Given the description of an element on the screen output the (x, y) to click on. 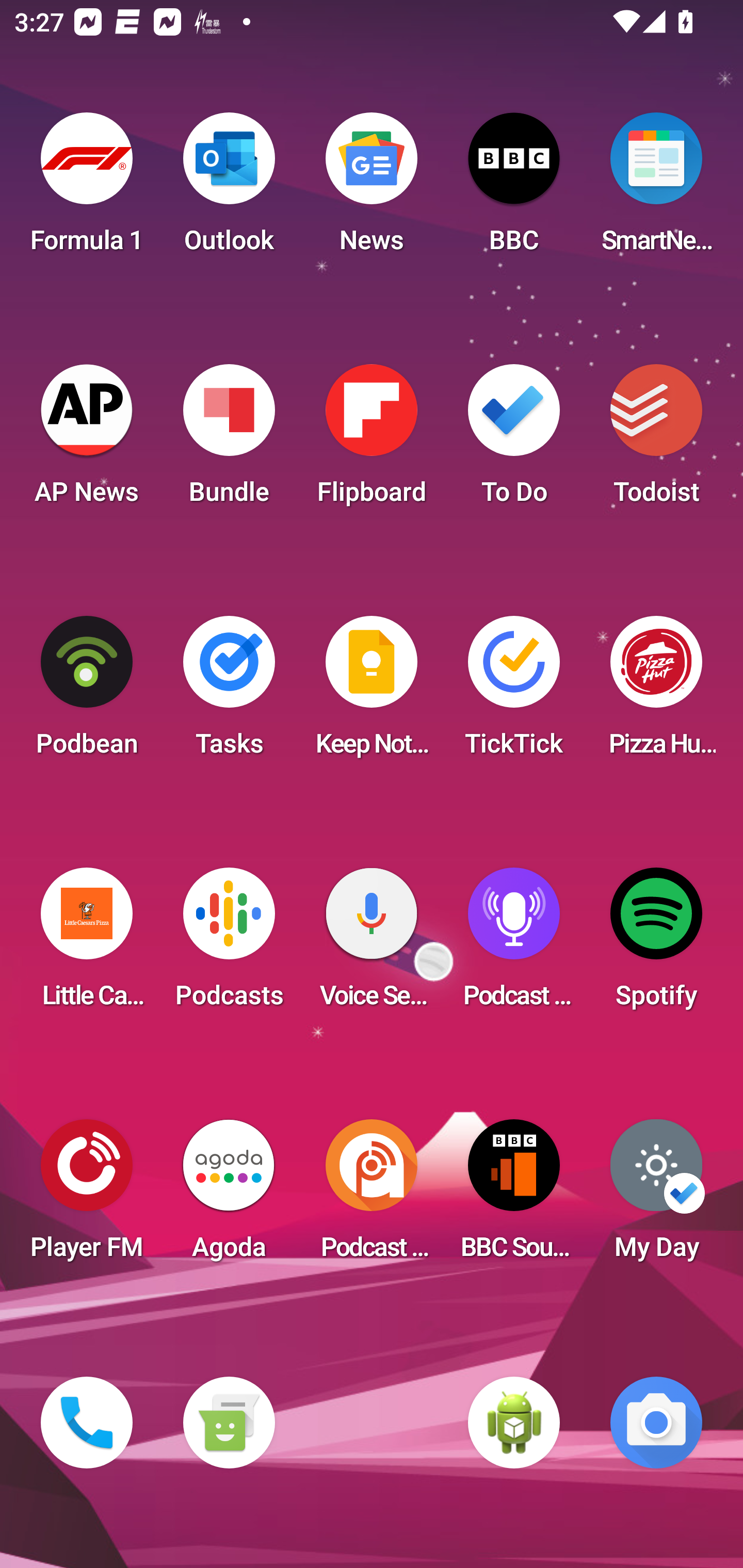
Formula 1 (86, 188)
Outlook (228, 188)
News (371, 188)
BBC (513, 188)
SmartNews (656, 188)
AP News (86, 440)
Bundle (228, 440)
Flipboard (371, 440)
To Do (513, 440)
Todoist (656, 440)
Podbean (86, 692)
Tasks (228, 692)
Keep Notes (371, 692)
TickTick (513, 692)
Pizza Hut HK & Macau (656, 692)
Little Caesars Pizza (86, 943)
Podcasts (228, 943)
Voice Search (371, 943)
Podcast Player (513, 943)
Spotify (656, 943)
Player FM (86, 1195)
Agoda (228, 1195)
Podcast Addict (371, 1195)
BBC Sounds (513, 1195)
My Day (656, 1195)
Phone (86, 1422)
Messaging (228, 1422)
WebView Browser Tester (513, 1422)
Camera (656, 1422)
